Given the description of an element on the screen output the (x, y) to click on. 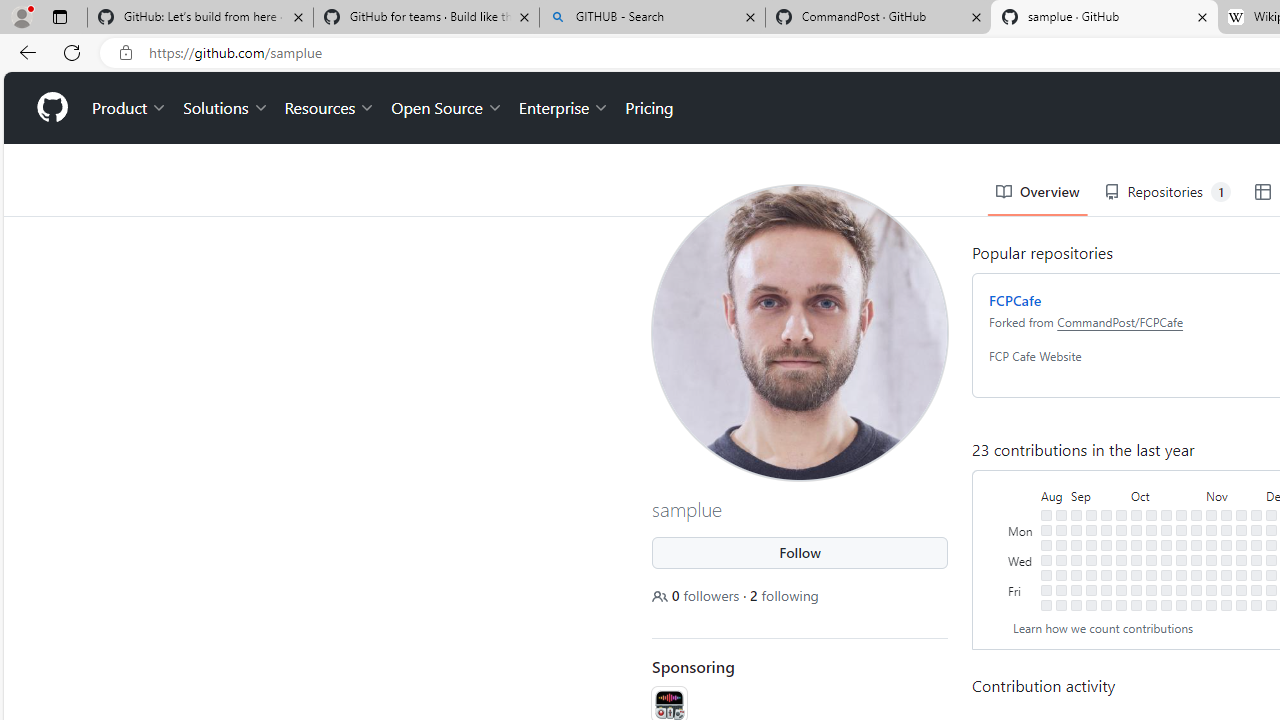
No contributions on August 27th. (1061, 515)
No contributions on September 14th. (1090, 574)
Thursday (1022, 574)
No contributions on November 26th. (1256, 515)
No contributions on October 14th. (1151, 605)
Resources (330, 107)
No contributions on December 6th. (1271, 559)
No contributions on December 2nd. (1256, 605)
No contributions on September 29th. (1121, 589)
No contributions on September 16th. (1090, 605)
GITHUB - Search (652, 17)
No contributions on September 8th. (1076, 589)
No contributions on October 18th. (1166, 559)
No contributions on October 25th. (1181, 559)
2 following (784, 595)
